Given the description of an element on the screen output the (x, y) to click on. 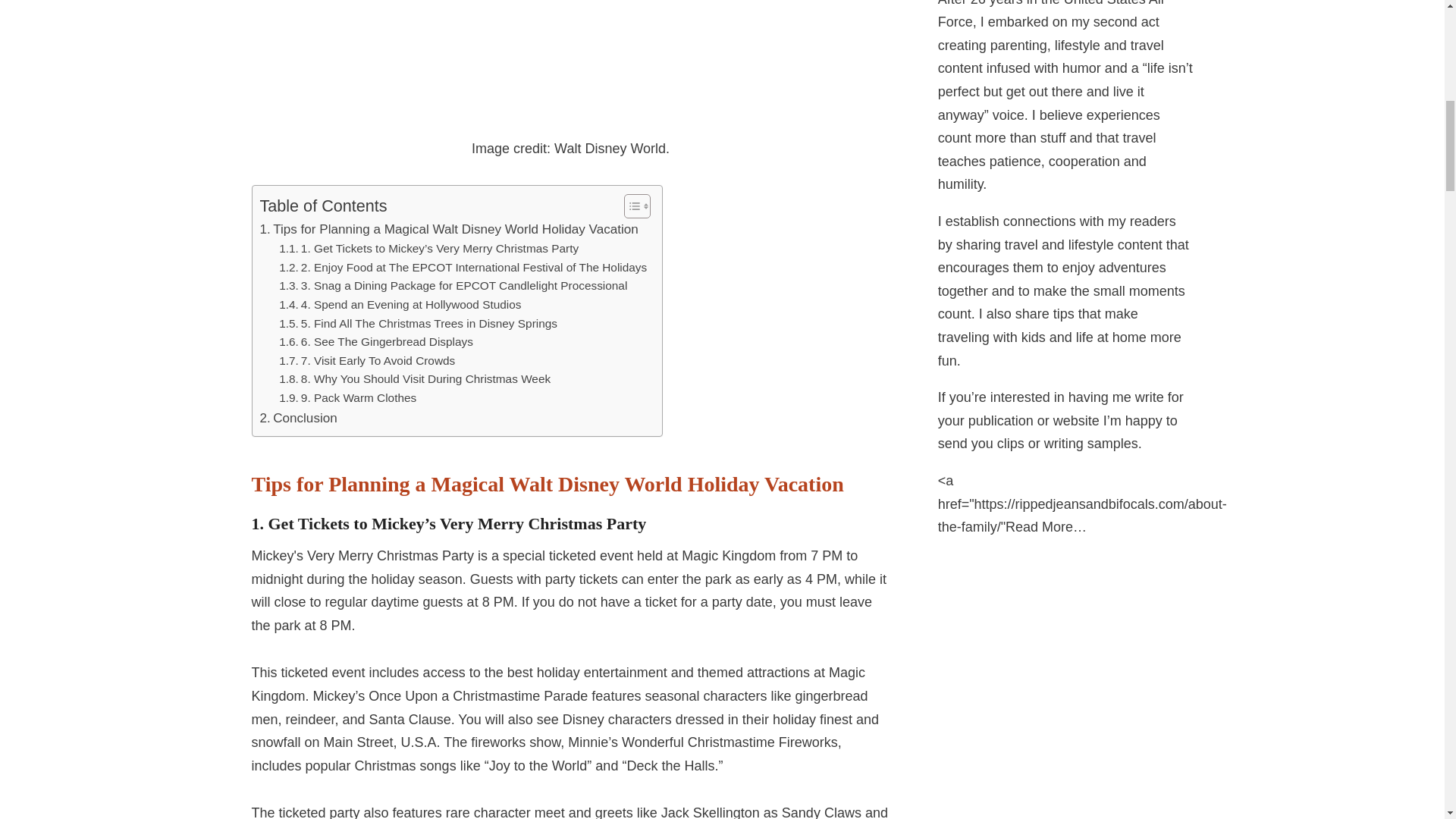
4. Spend an Evening at Hollywood Studios (400, 304)
7. Visit Early To Avoid Crowds (366, 361)
6. See The Gingerbread Displays (376, 342)
Conclusion (297, 417)
3. Snag a Dining Package for EPCOT Candlelight Processional (453, 285)
9. Pack Warm Clothes (347, 398)
8. Why You Should Visit During Christmas Week (414, 379)
5. Find All The Christmas Trees in Disney Springs (418, 323)
